Given the description of an element on the screen output the (x, y) to click on. 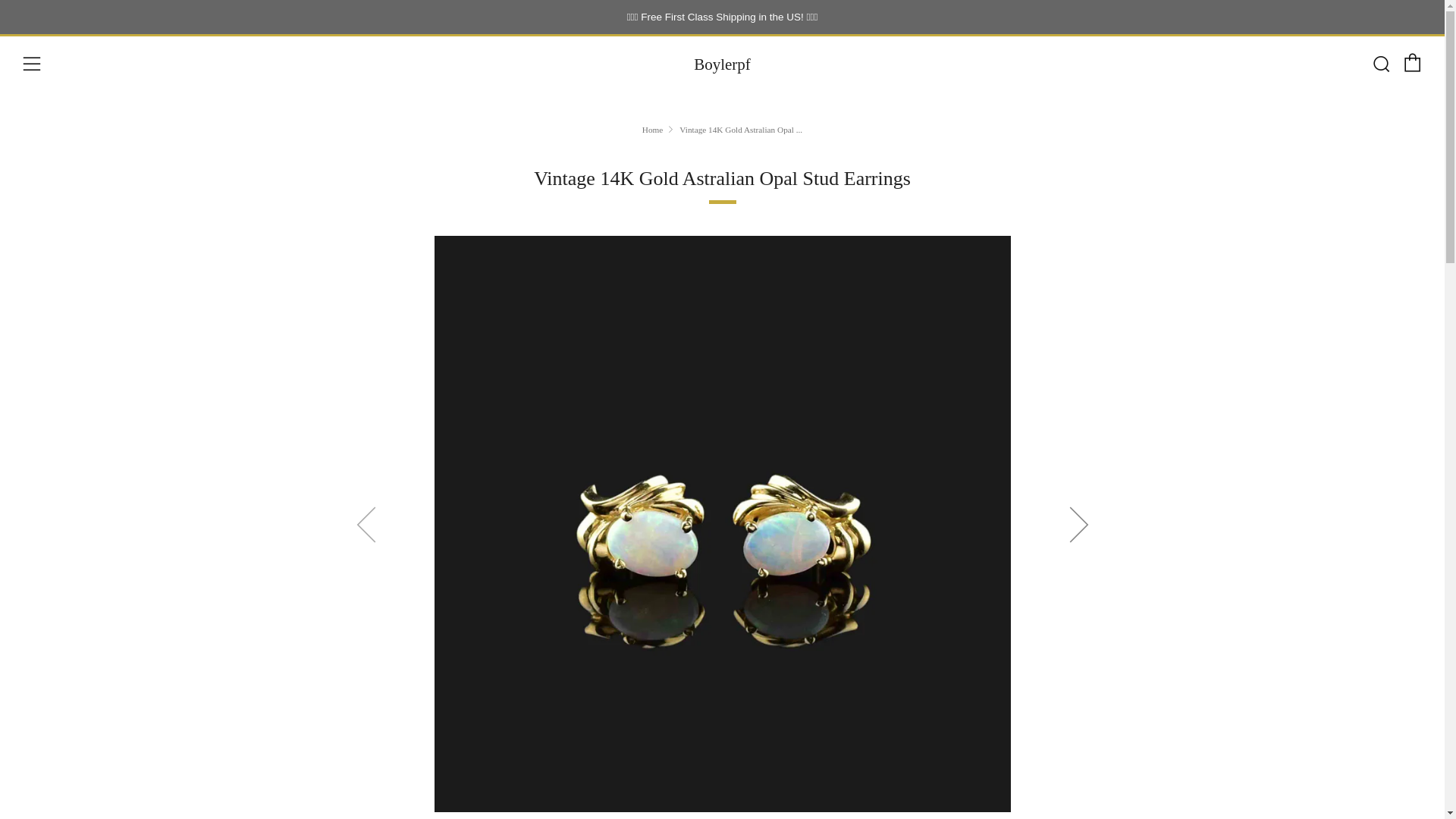
Home (652, 129)
